Given the description of an element on the screen output the (x, y) to click on. 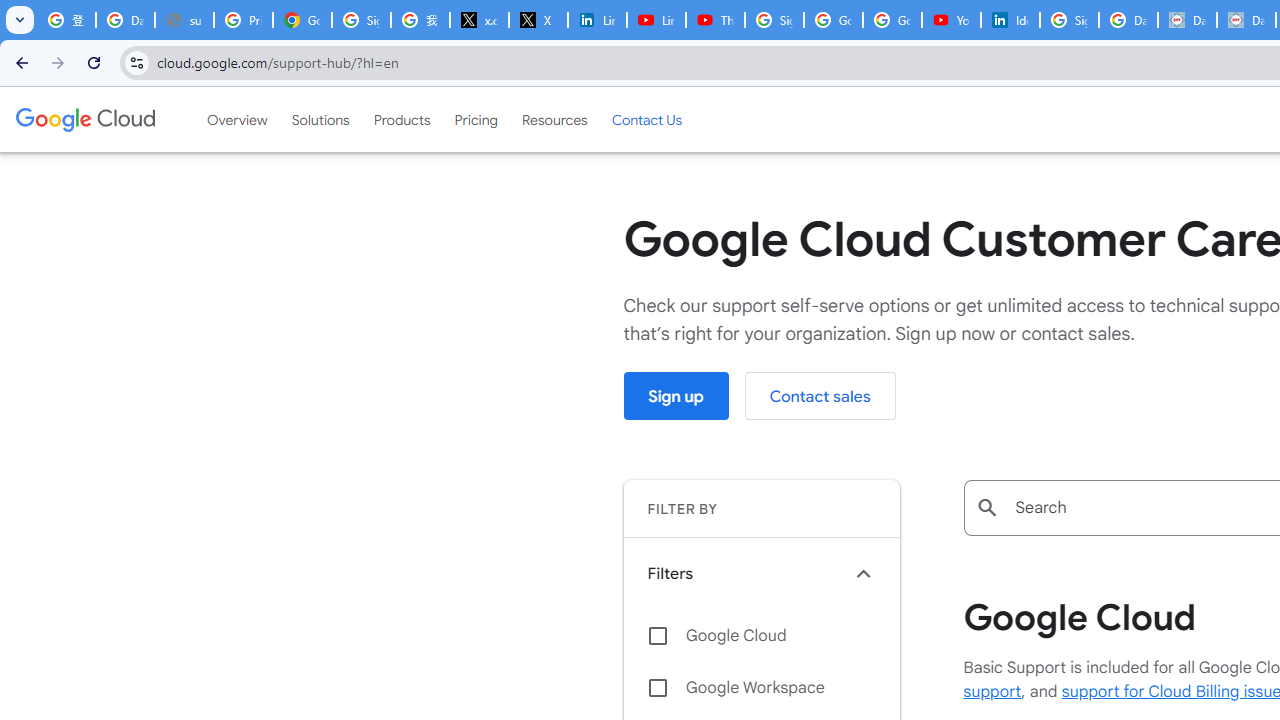
LinkedIn - YouTube (656, 20)
Sign up (676, 395)
Products (401, 119)
support.google.com - Network error (183, 20)
Sign in - Google Accounts (1069, 20)
LinkedIn Privacy Policy (597, 20)
Data Privacy Framework (1187, 20)
Solutions (320, 119)
Google Cloud (84, 119)
Google Cloud (761, 635)
X (538, 20)
